Given the description of an element on the screen output the (x, y) to click on. 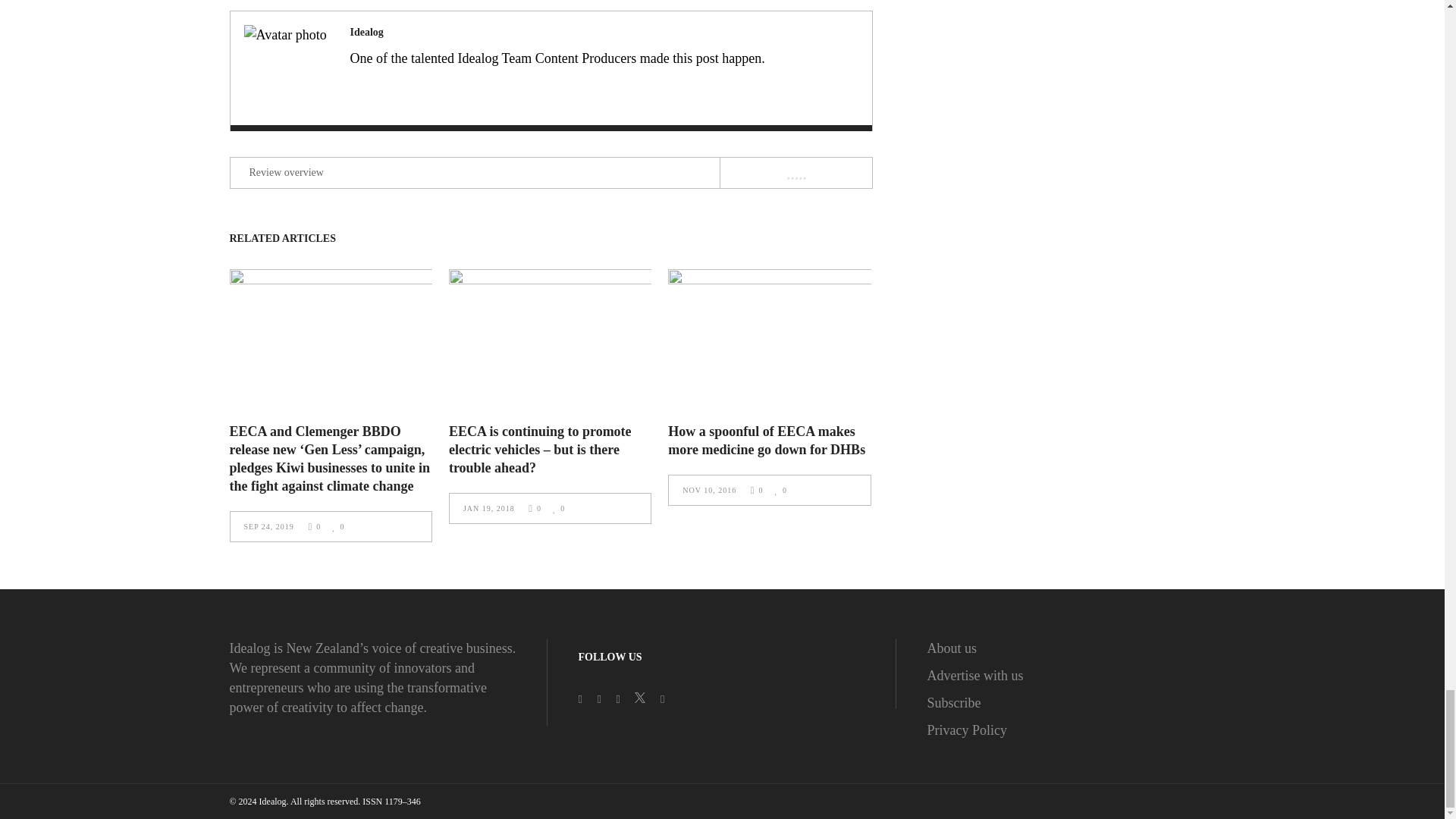
Idealog (367, 31)
How a spoonful of EECA makes more medicine go down for DHBs (766, 440)
Like this (558, 508)
More bangers for the buck (287, 68)
How a spoonful of EECA makes more medicine go down for DHBs (769, 336)
Like this (337, 526)
More bangers for the buck (367, 31)
